Given the description of an element on the screen output the (x, y) to click on. 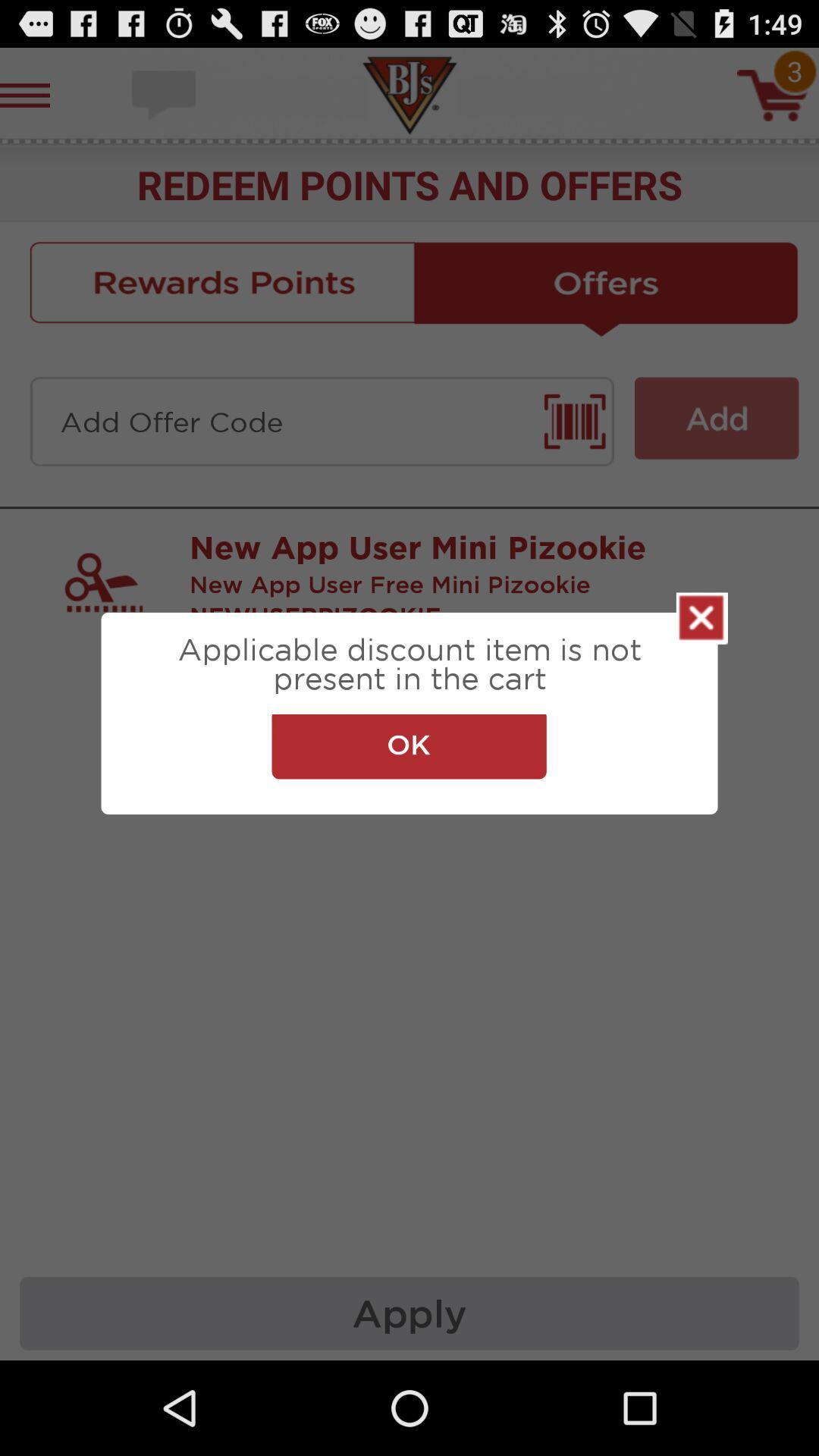
scroll to ok (408, 746)
